Given the description of an element on the screen output the (x, y) to click on. 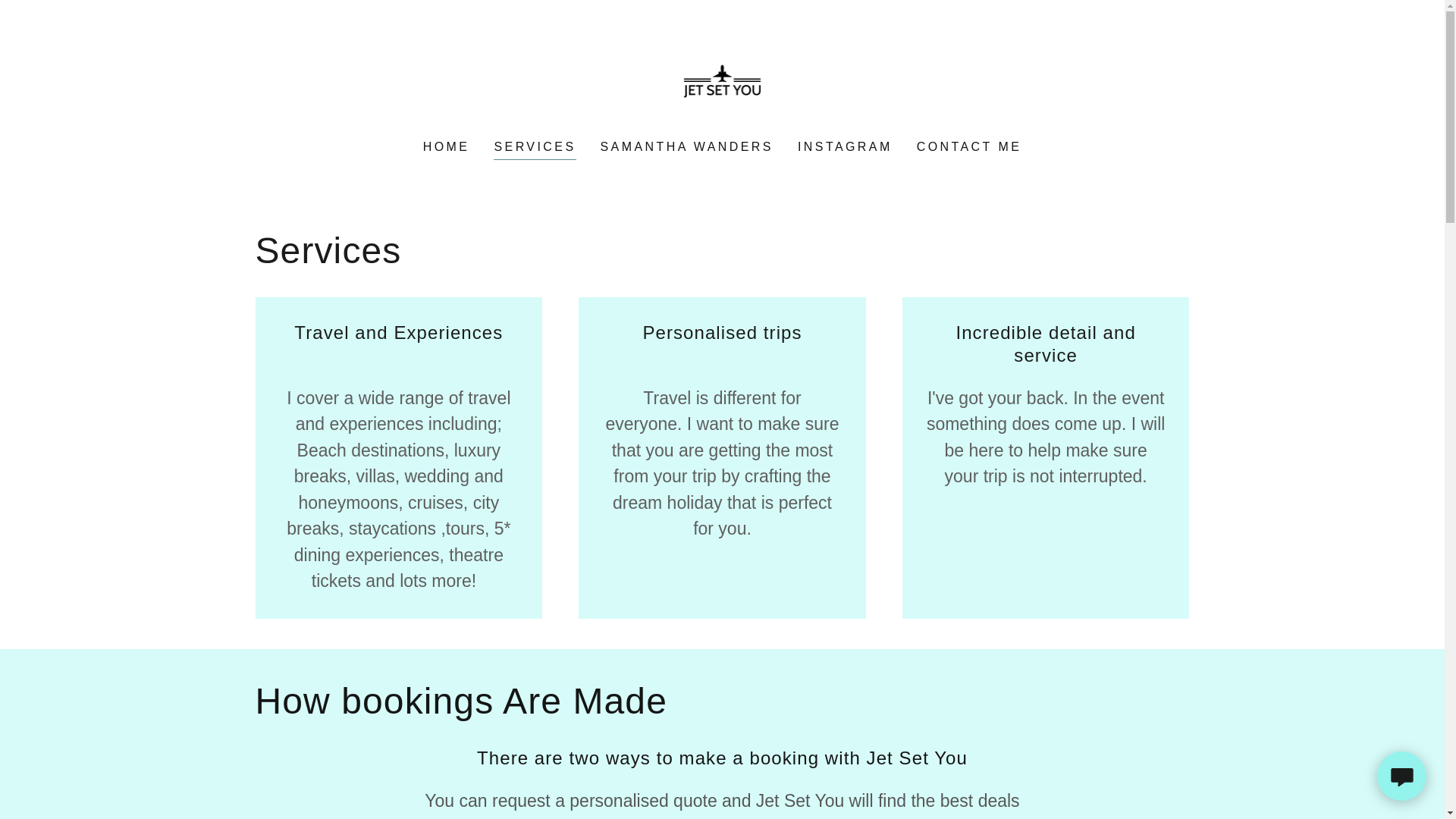
SAMANTHA WANDERS (686, 146)
SERVICES (534, 148)
CONTACT ME (969, 146)
INSTAGRAM (844, 146)
HOME (446, 146)
Jet Set You (721, 79)
